Given the description of an element on the screen output the (x, y) to click on. 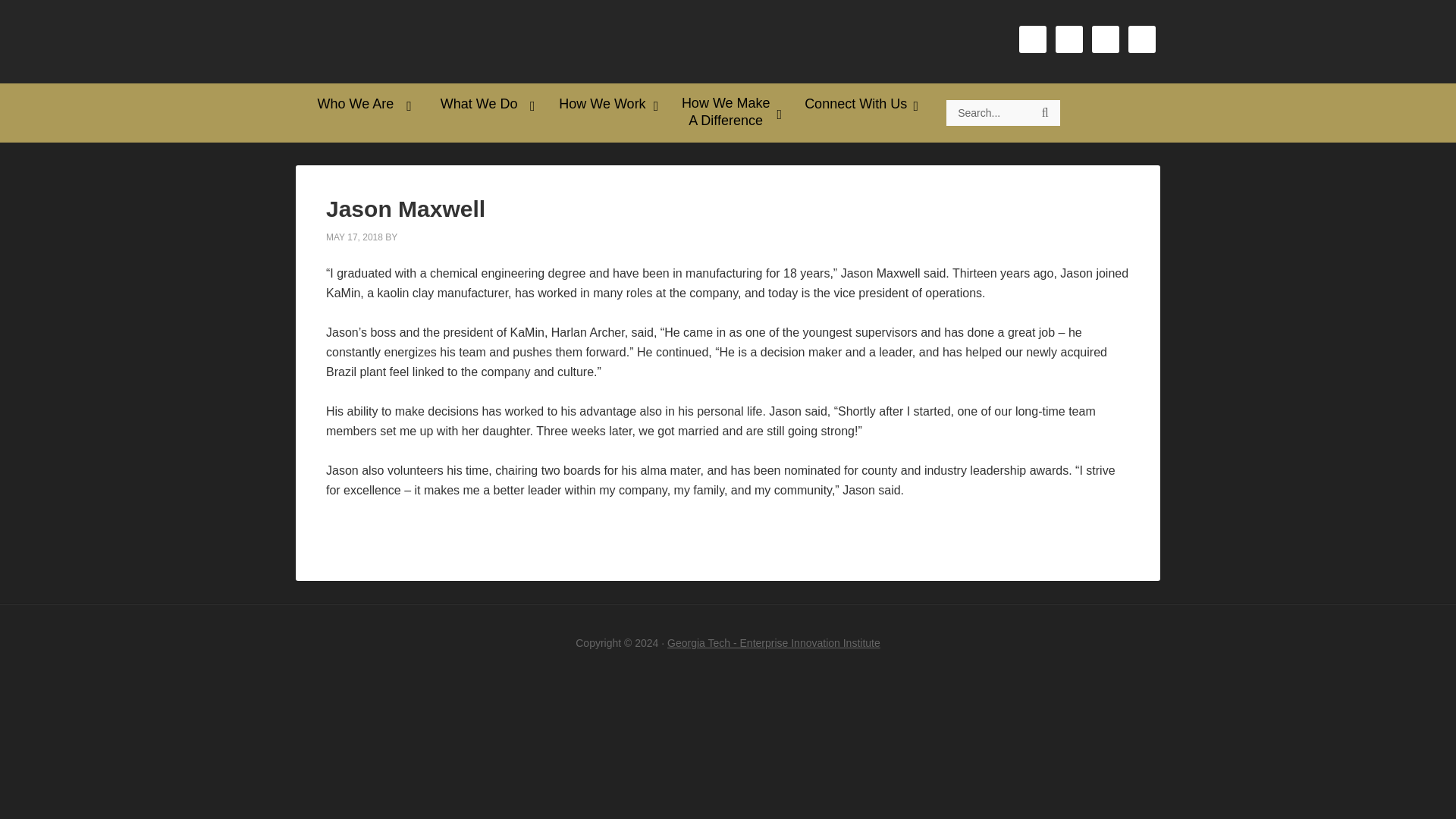
Connect With Us (857, 103)
Georgia Tech - Enterprise Innovation Institute (773, 643)
Who We Are (357, 103)
What We Do (481, 103)
How We Make A Difference (727, 112)
How We Work (604, 103)
